Given the description of an element on the screen output the (x, y) to click on. 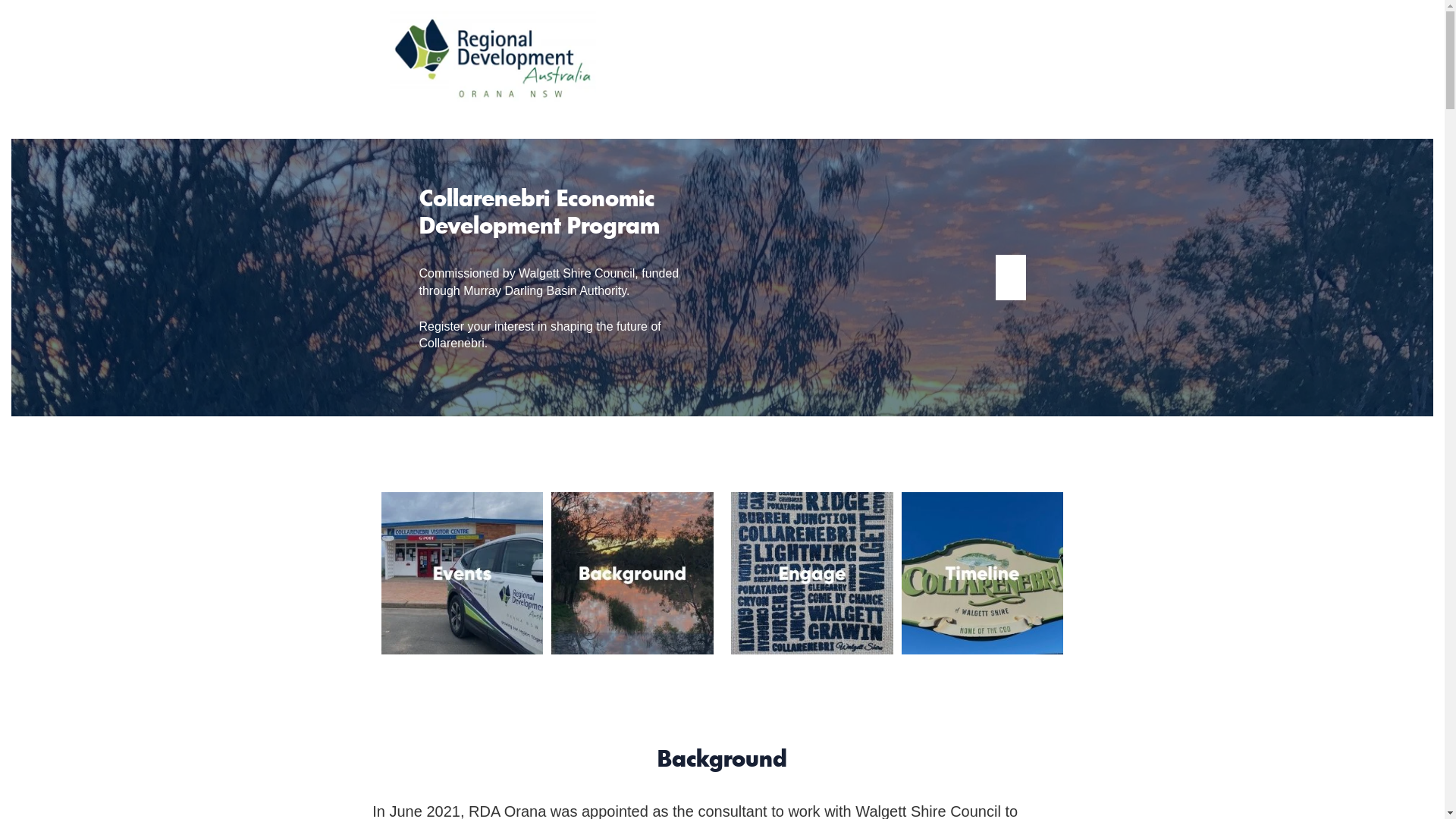
3-2 Element type: hover (461, 573)
2-2 Element type: hover (982, 573)
4-2 Element type: hover (812, 573)
1-4 Element type: hover (632, 573)
vast.png Element type: hover (492, 59)
